Given the description of an element on the screen output the (x, y) to click on. 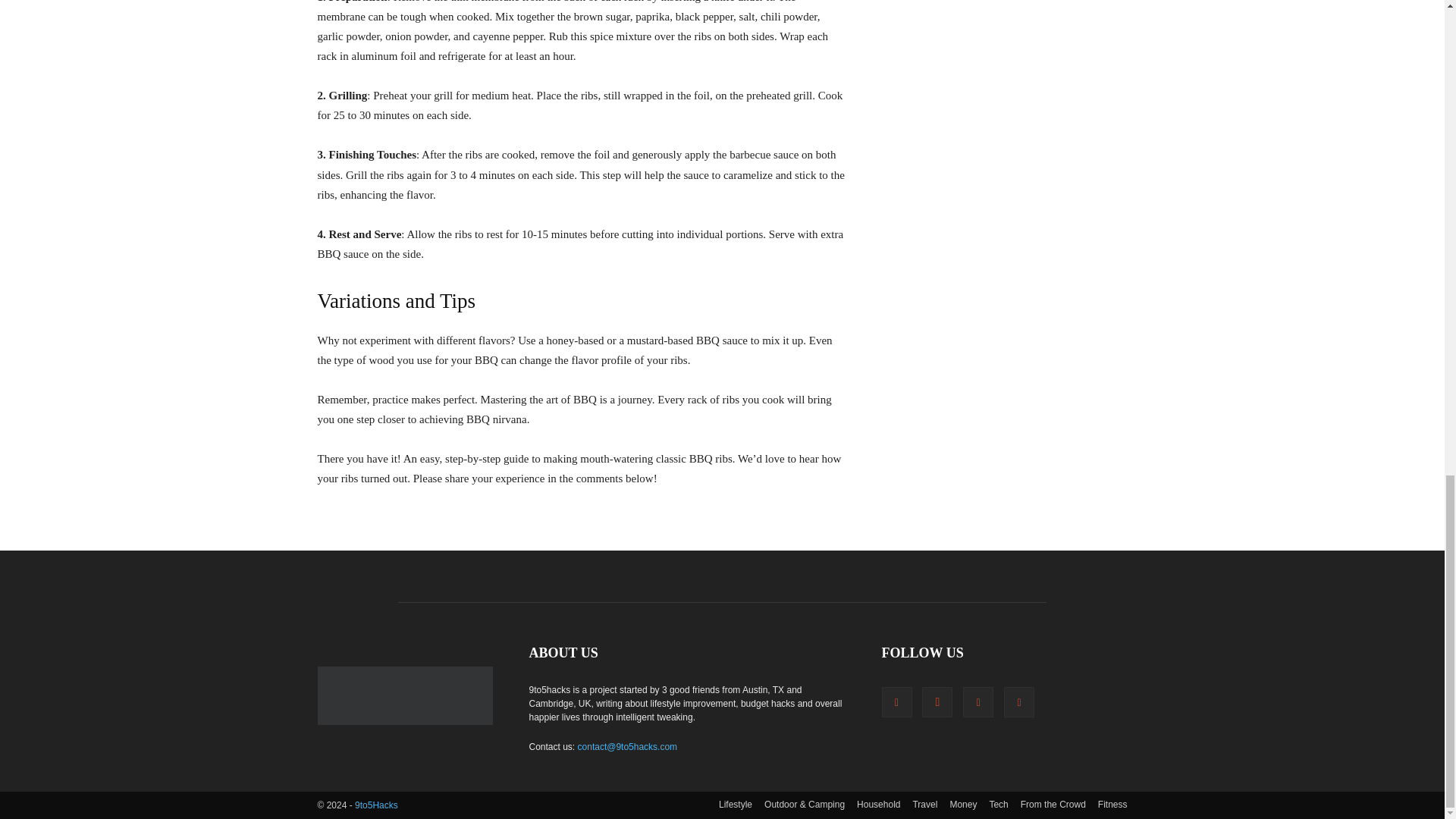
Facebook (895, 702)
Instagram (936, 702)
9to5hacks logo (404, 694)
